Given the description of an element on the screen output the (x, y) to click on. 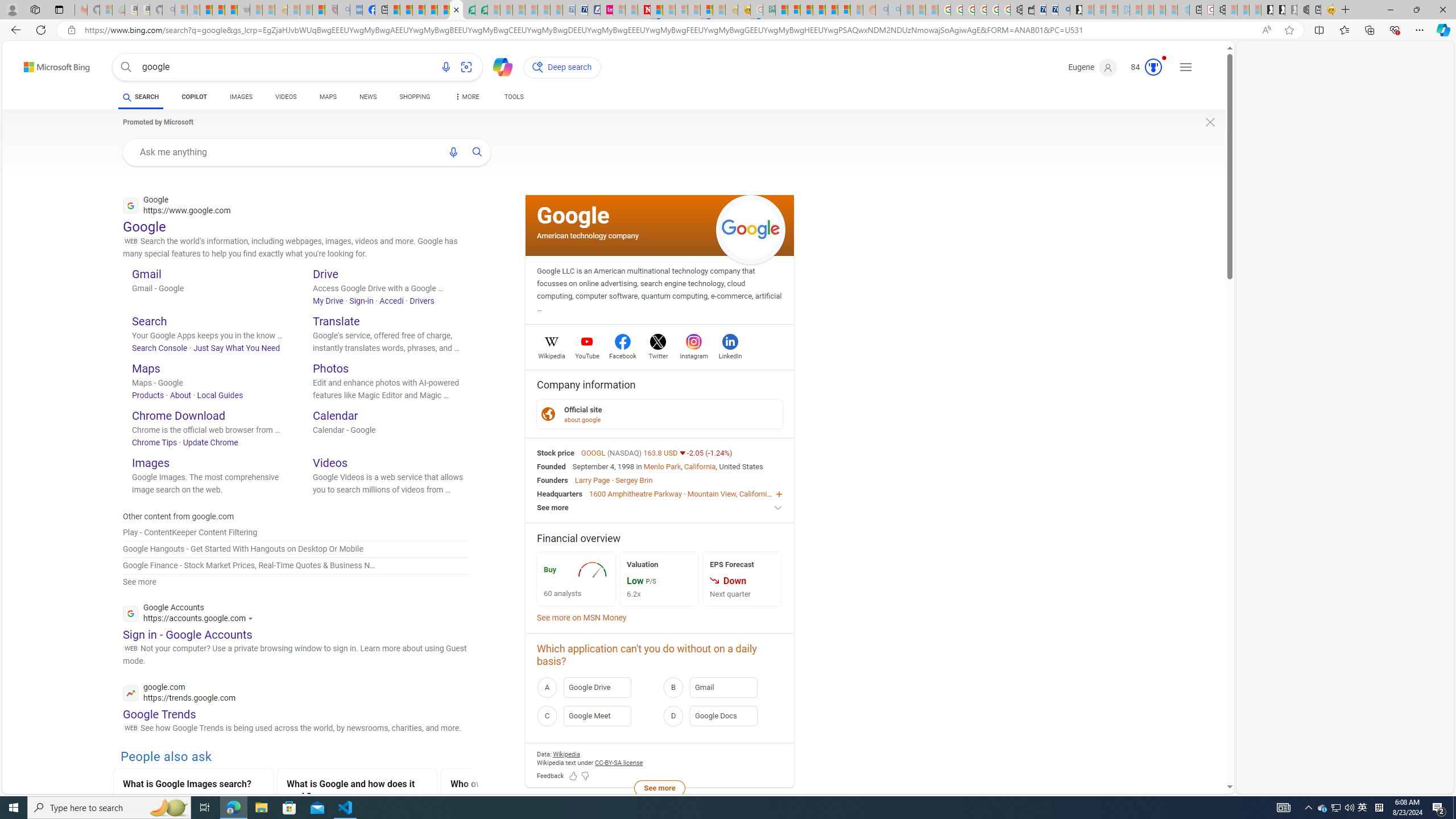
Expert Portfolios (818, 9)
Images (150, 462)
Google Trends (159, 713)
Search button (126, 66)
NEWS (367, 98)
See more images of Google (751, 229)
Eugene (1093, 67)
Facebook (622, 354)
